Given the description of an element on the screen output the (x, y) to click on. 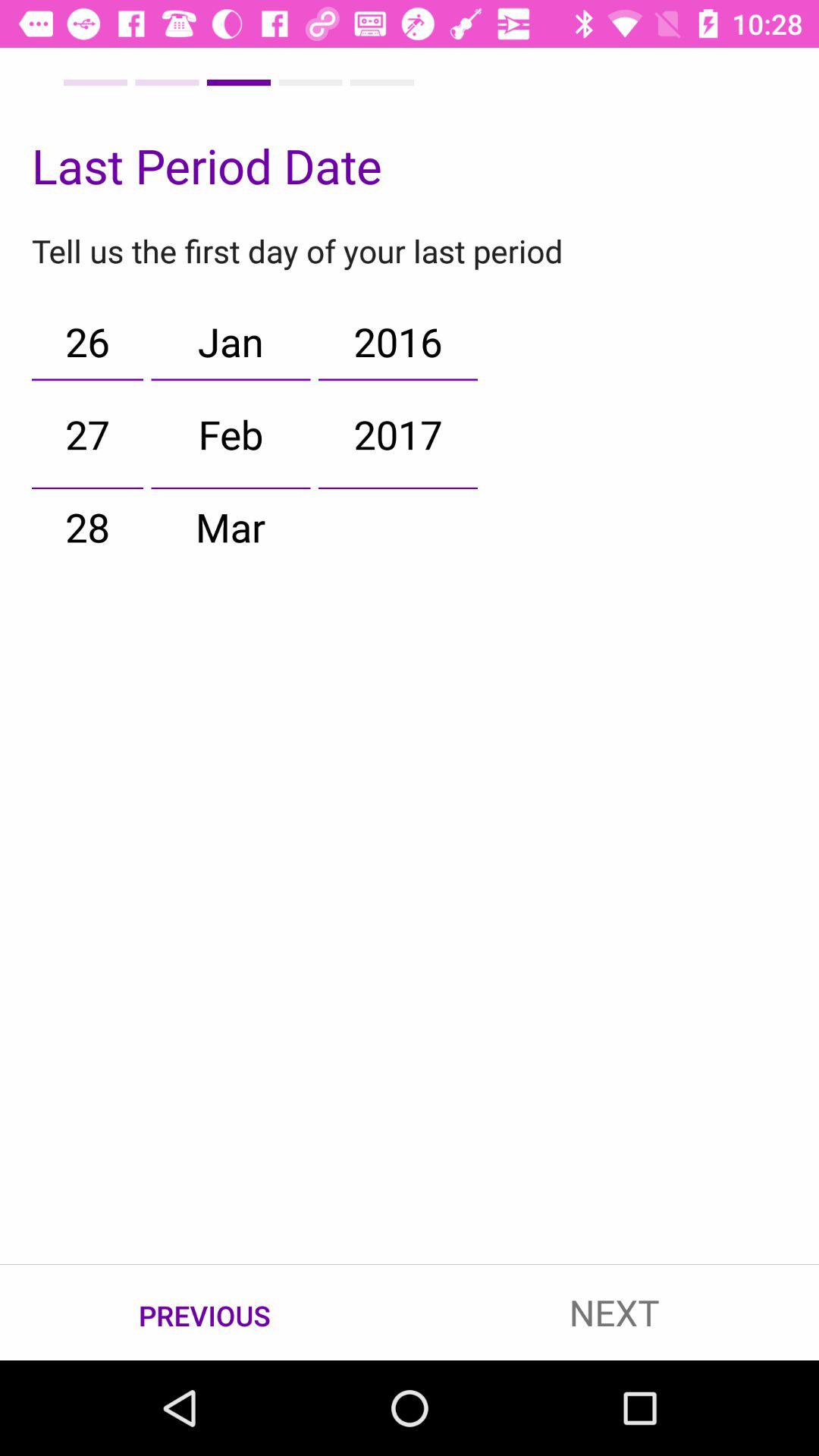
select icon next to next (204, 1313)
